Given the description of an element on the screen output the (x, y) to click on. 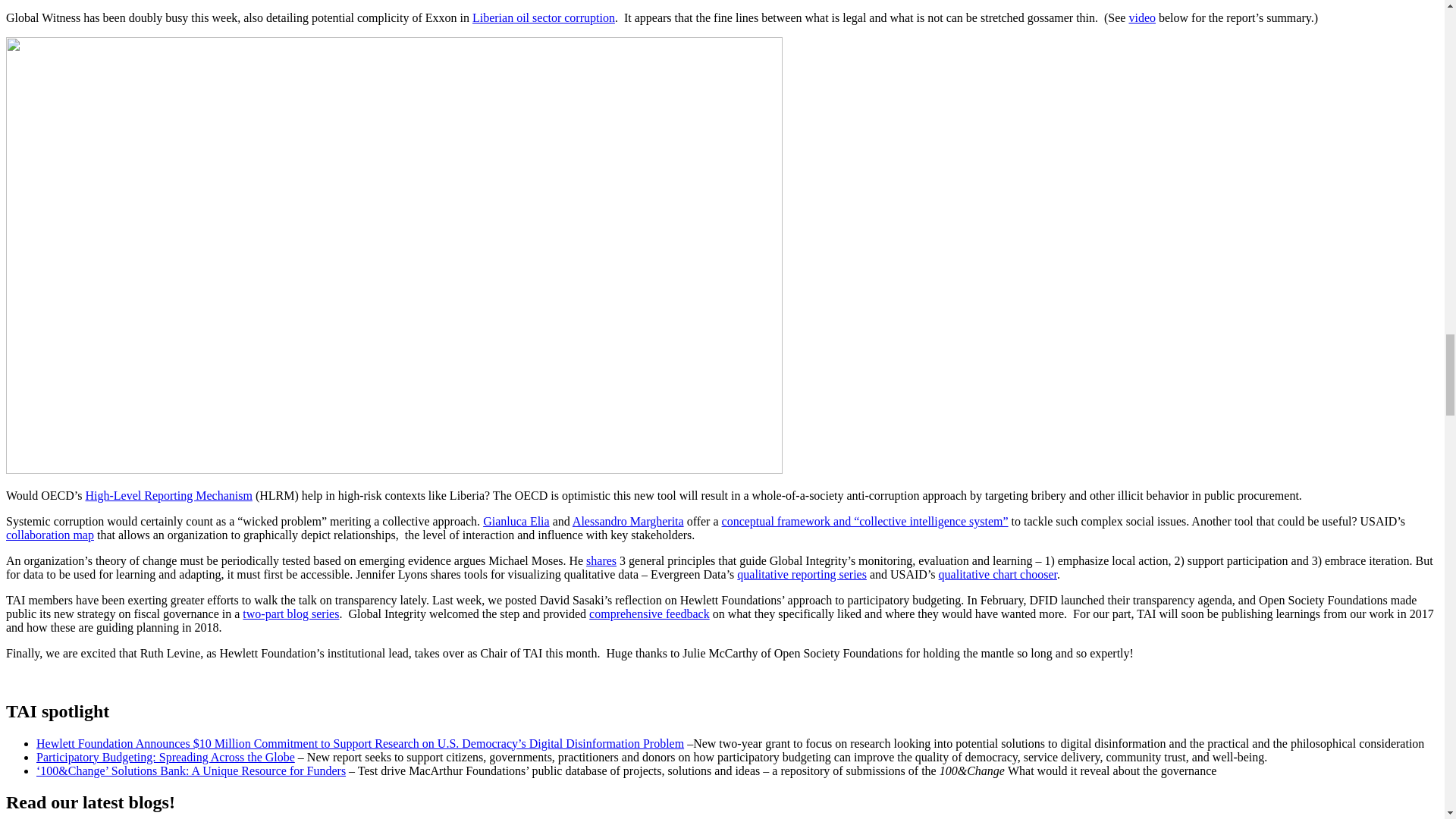
Alessandro Margherita (628, 521)
Gianluca Elia (516, 521)
High-Level Reporting Mechanism (167, 495)
Liberian oil sector corruption (542, 17)
video (1142, 17)
